Given the description of an element on the screen output the (x, y) to click on. 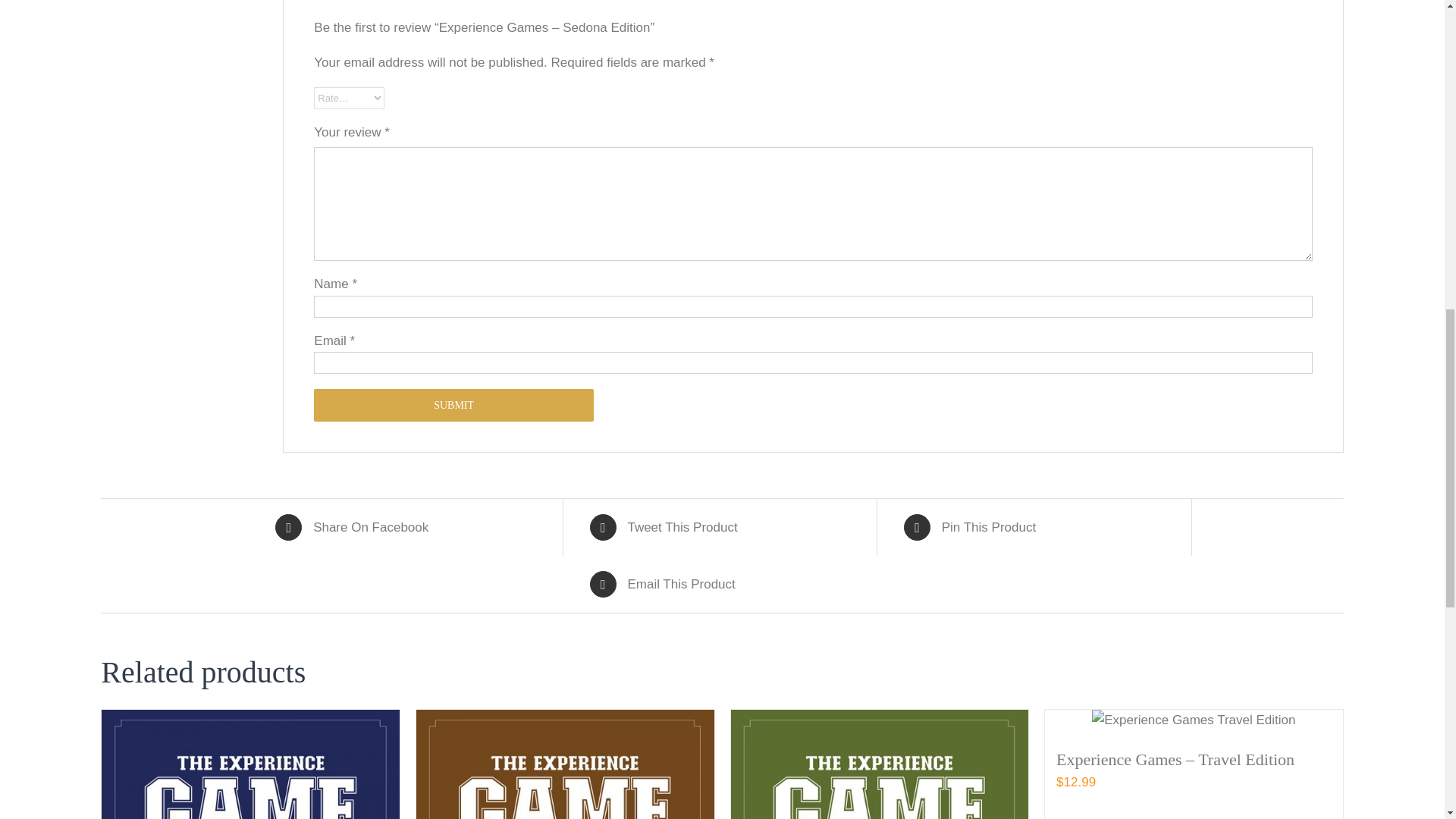
Submit (454, 405)
